Given the description of an element on the screen output the (x, y) to click on. 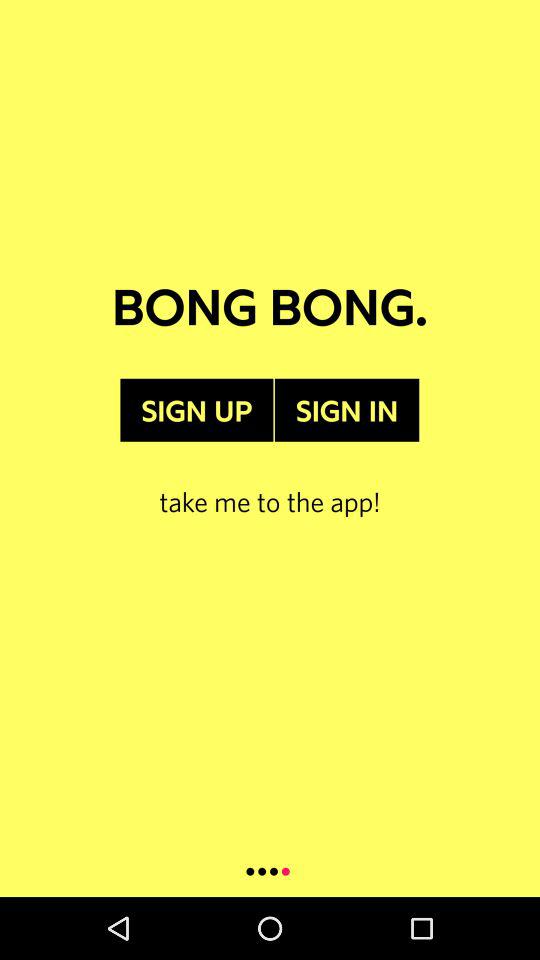
launch item above the take me to (346, 409)
